Given the description of an element on the screen output the (x, y) to click on. 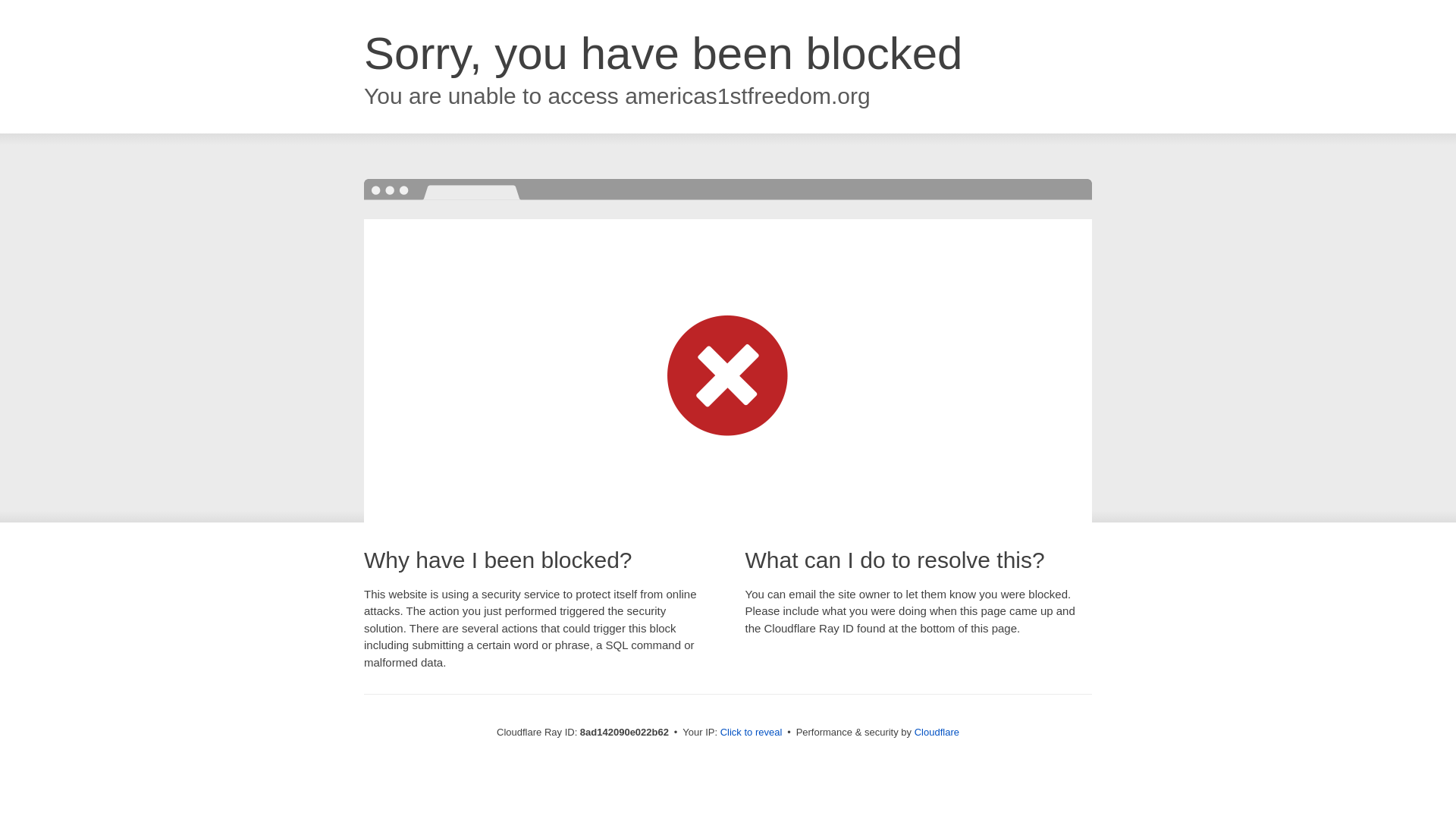
Cloudflare (936, 731)
Click to reveal (751, 732)
